Given the description of an element on the screen output the (x, y) to click on. 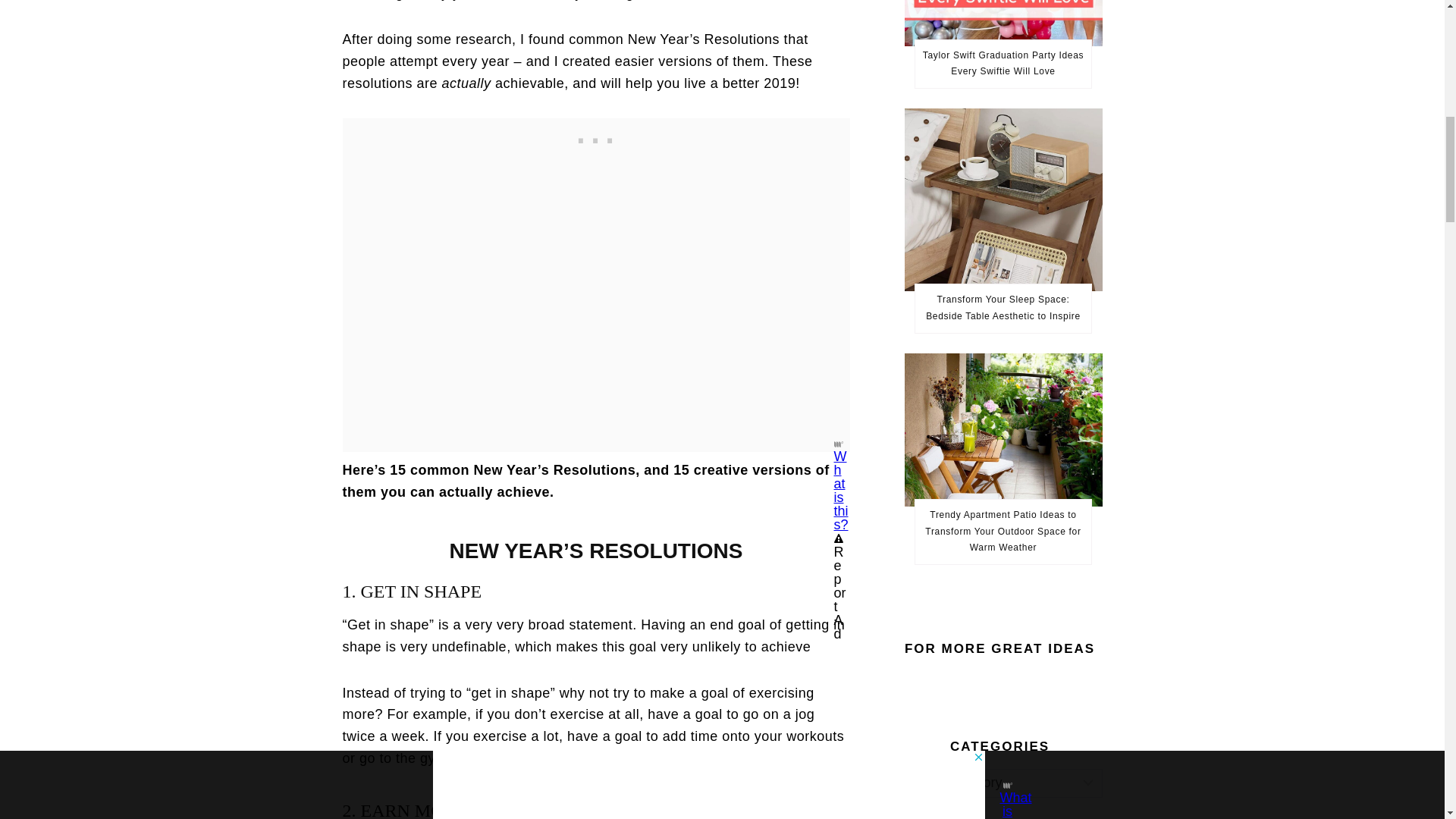
3rd party ad content (595, 136)
